Given the description of an element on the screen output the (x, y) to click on. 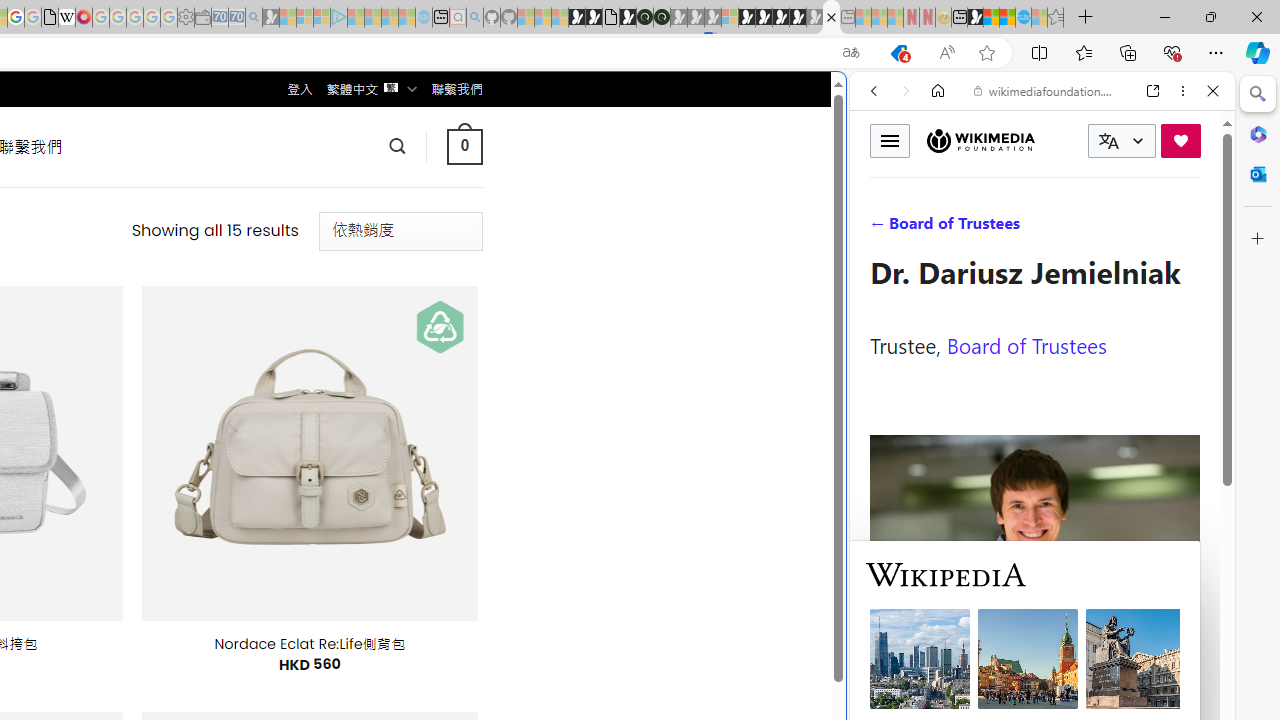
This site has coupons! Shopping in Microsoft Edge, 4 (898, 53)
Wallet - Sleeping (202, 17)
Search Filter, VIDEOS (1006, 228)
Wiktionary (1034, 669)
Future Focus Report 2024 (661, 17)
MediaWiki (83, 17)
Board of Trustees (1026, 344)
Wikimedia Foundation (980, 141)
Search Filter, WEB (882, 228)
